Given the description of an element on the screen output the (x, y) to click on. 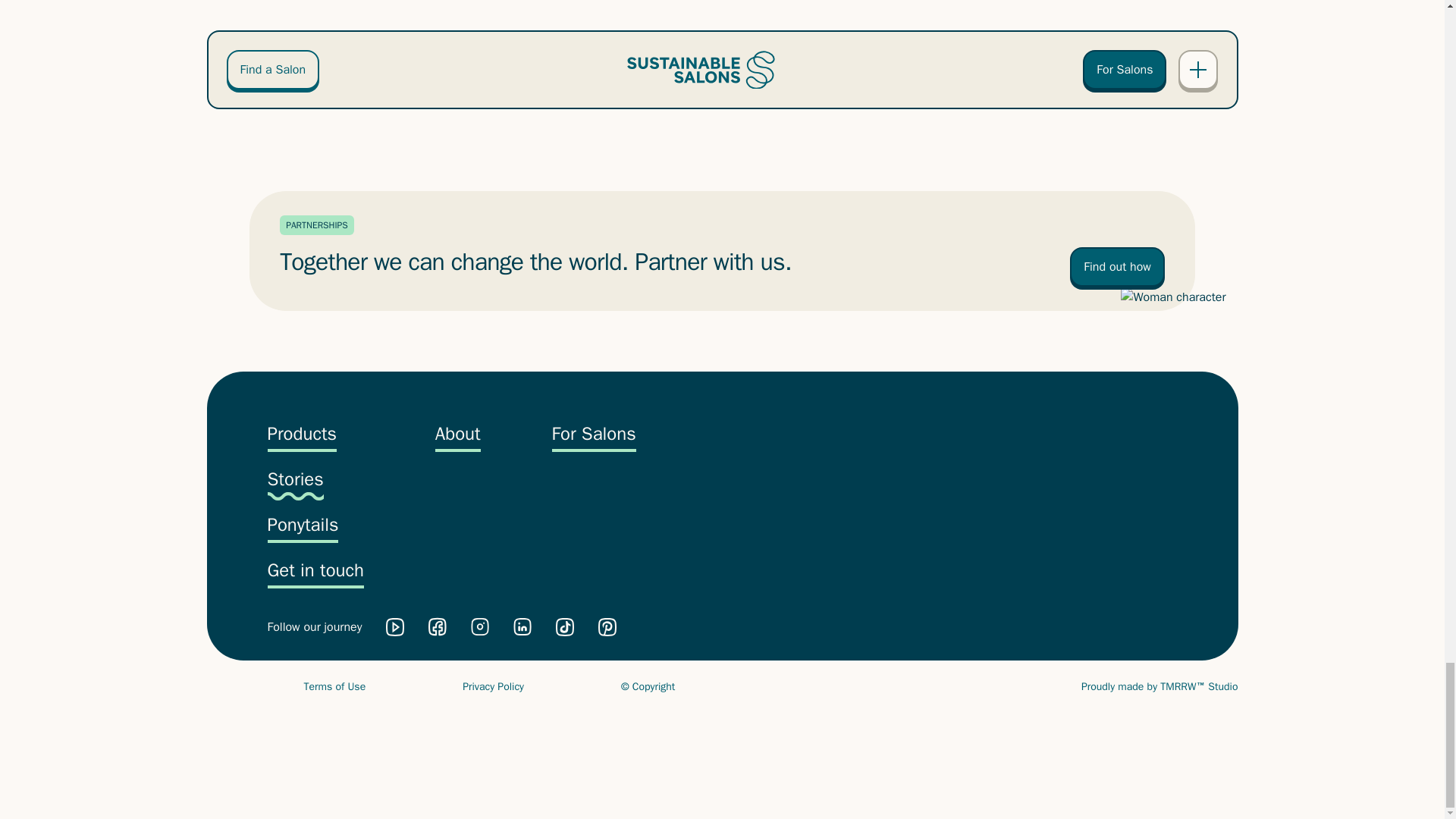
Follow us on LinkedIn (522, 626)
Follow us on Facebook (437, 626)
Follow us on Pinterest (606, 627)
Follow us on YouTube (394, 627)
Follow us on TikTok (564, 627)
Follow us on Instagram (479, 626)
